Given the description of an element on the screen output the (x, y) to click on. 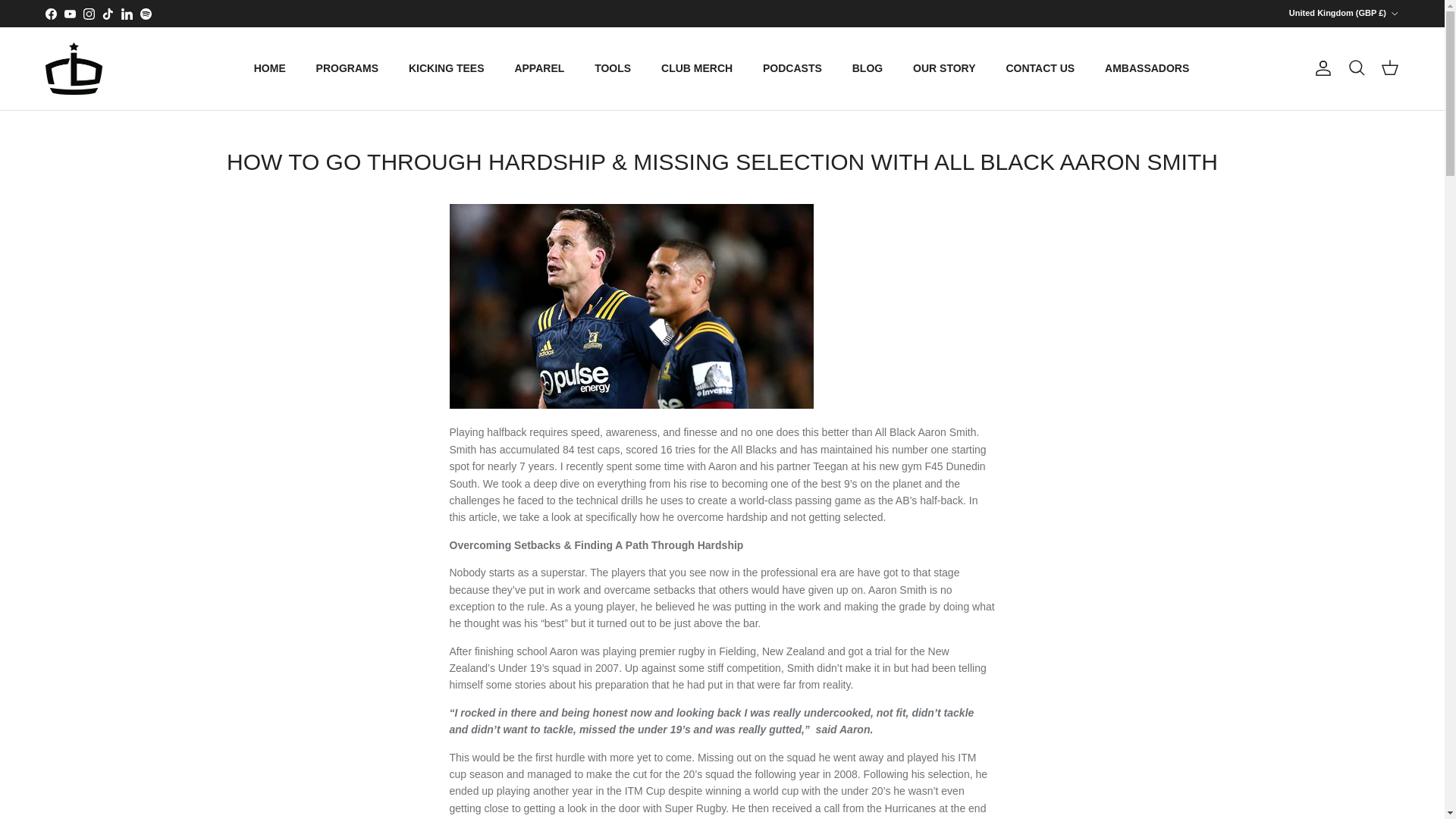
LinkedIn (126, 12)
OUR STORY (943, 68)
Rugby Bricks (73, 68)
Search (1356, 67)
Account (1319, 67)
Facebook (50, 12)
BLOG (867, 68)
Spotify (145, 12)
Rugby Bricks on TikTok (107, 12)
CONTACT US (1039, 68)
KICKING TEES (445, 68)
Cart (1389, 67)
Rugby Bricks on LinkedIn (126, 12)
PODCASTS (792, 68)
APPAREL (539, 68)
